Given the description of an element on the screen output the (x, y) to click on. 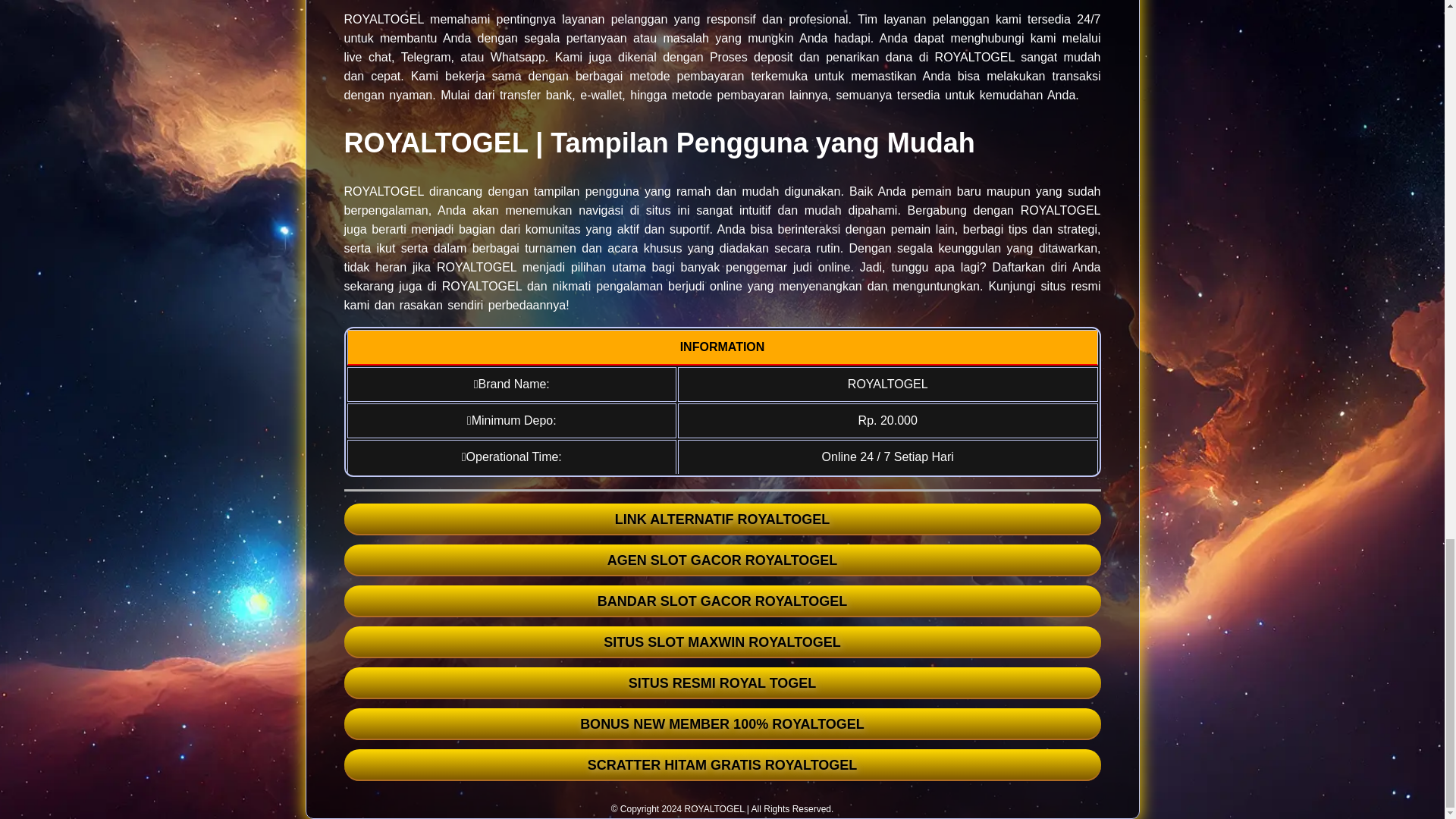
SCRATTER HITAM GRATIS ROYALTOGEL (721, 765)
SITUS RESMI ROYAL TOGEL (721, 683)
AGEN SLOT GACOR ROYALTOGEL (721, 560)
ROYALTOGEL (714, 808)
SITUS SLOT MAXWIN ROYALTOGEL (721, 642)
BANDAR SLOT GACOR ROYALTOGEL (721, 601)
LINK ALTERNATIF ROYALTOGEL (721, 519)
